Given the description of an element on the screen output the (x, y) to click on. 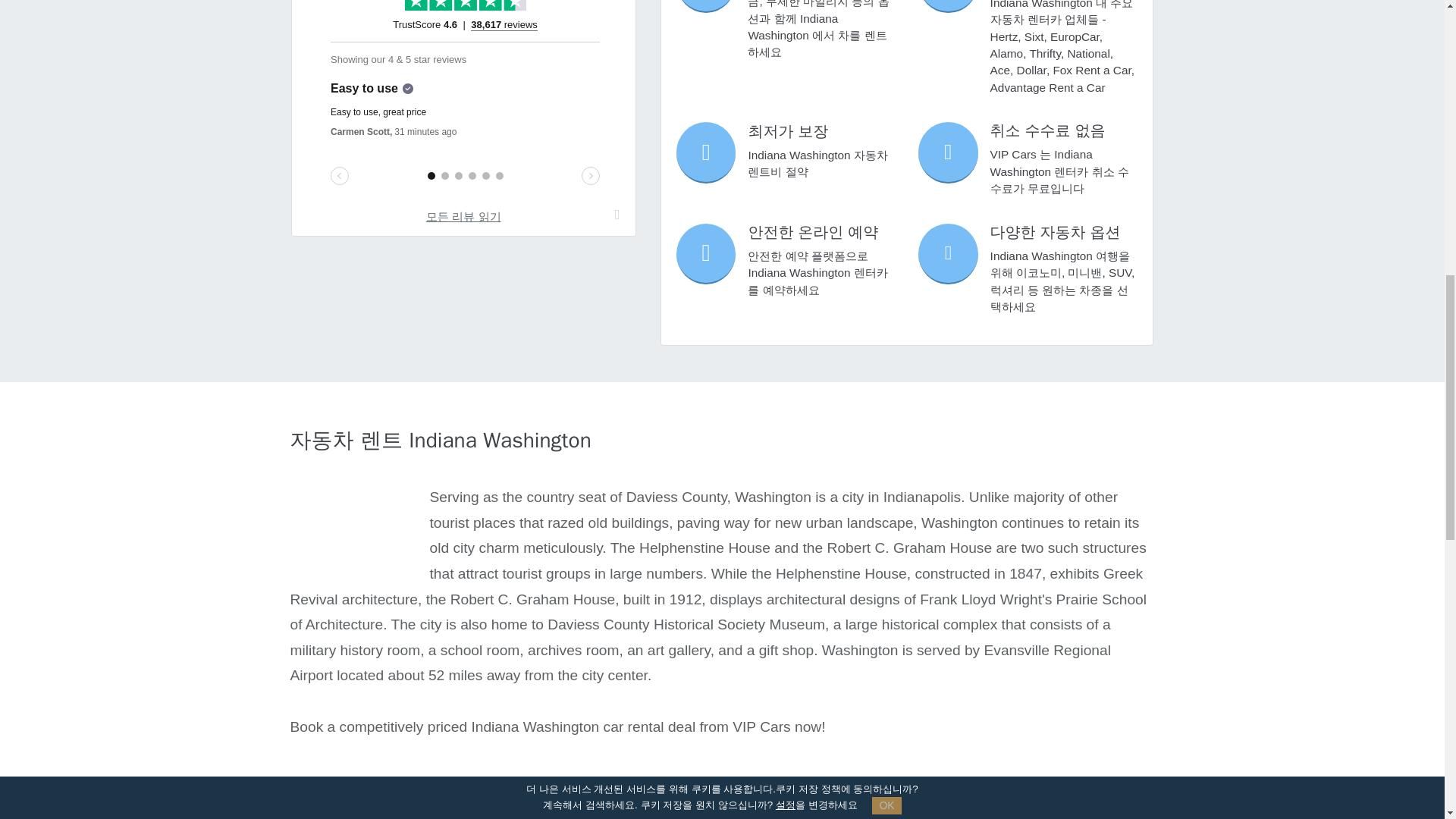
Customer reviews powered by Trustpilot (464, 102)
